Given the description of an element on the screen output the (x, y) to click on. 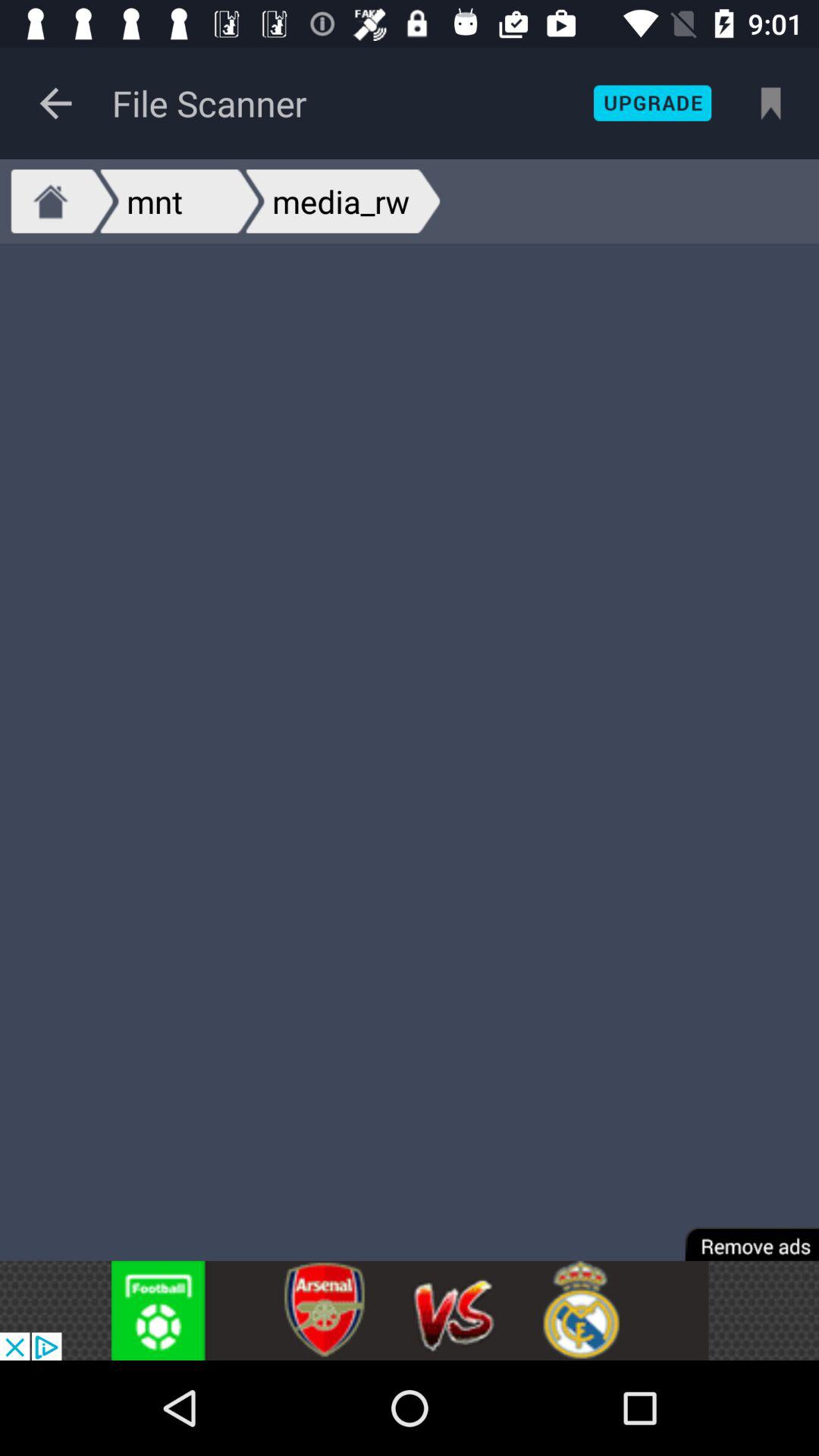
share the article (409, 1310)
